Given the description of an element on the screen output the (x, y) to click on. 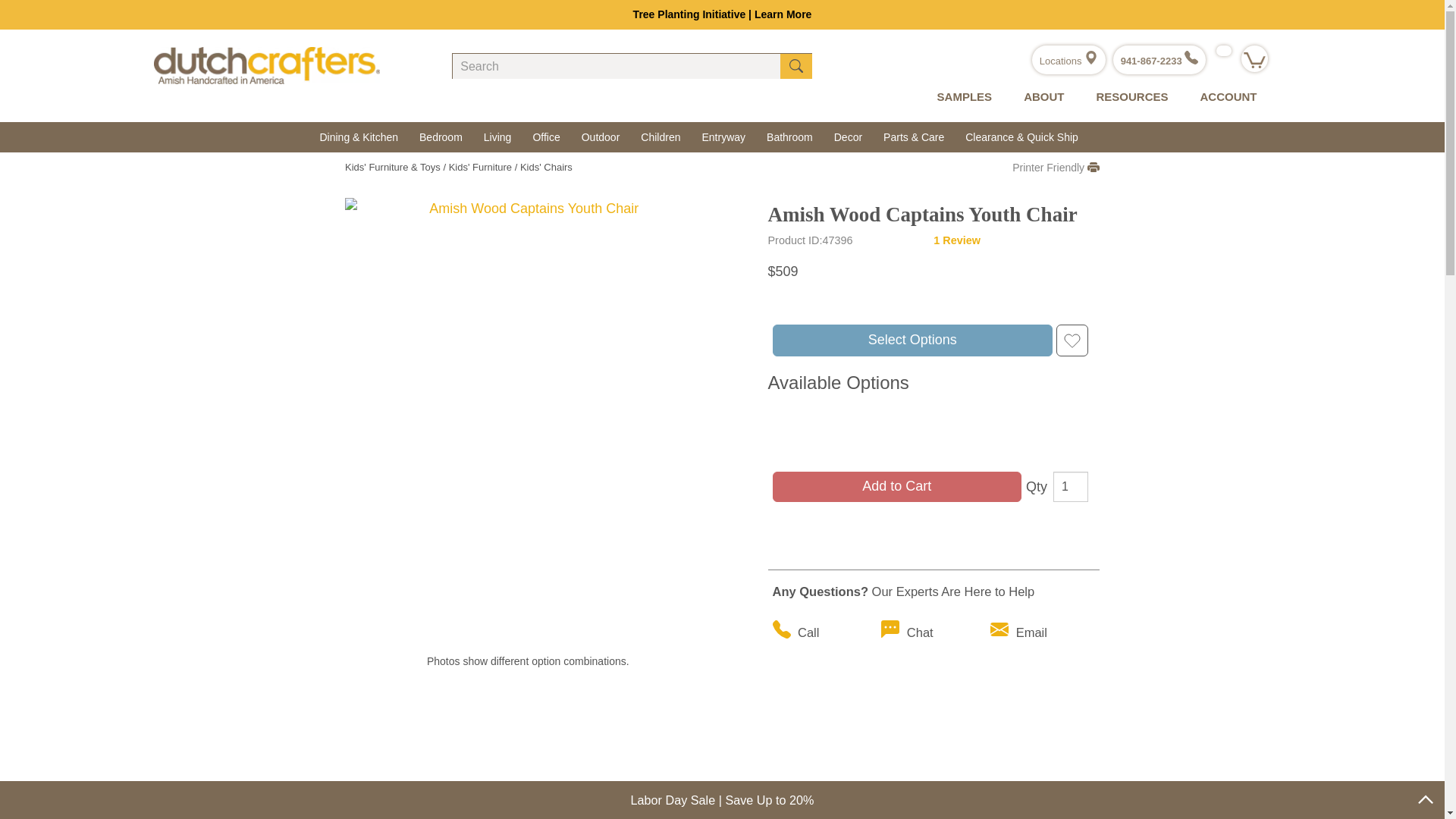
941-867-2233 (1159, 60)
ABOUT (1039, 96)
Locations (1068, 60)
RESOURCES (1128, 96)
1 (1069, 486)
ACCOUNT (1224, 96)
SAMPLES (961, 96)
